Given the description of an element on the screen output the (x, y) to click on. 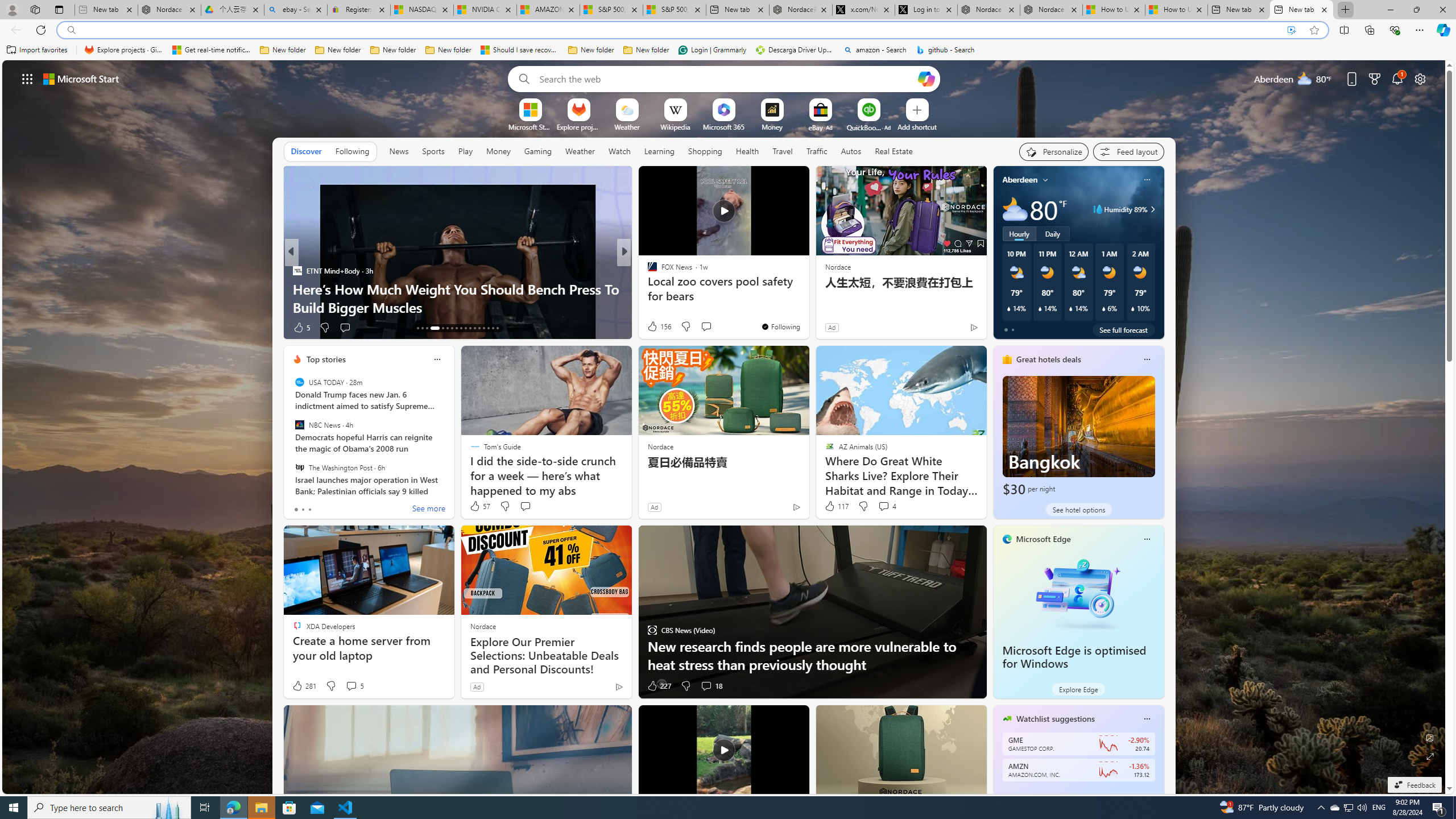
Microsoft Edge is optimised for Windows (1077, 592)
Mostly cloudy (1014, 208)
Microsoft start (81, 78)
Humidity 89% (1150, 208)
Class: weather-current-precipitation-glyph (1133, 308)
Autos (851, 151)
AutomationID: tab-23 (470, 328)
Forge of Empires (668, 288)
5 Like (301, 327)
Login | Grammarly (712, 49)
Traffic (816, 151)
AutomationID: tab-28 (492, 328)
